Given the description of an element on the screen output the (x, y) to click on. 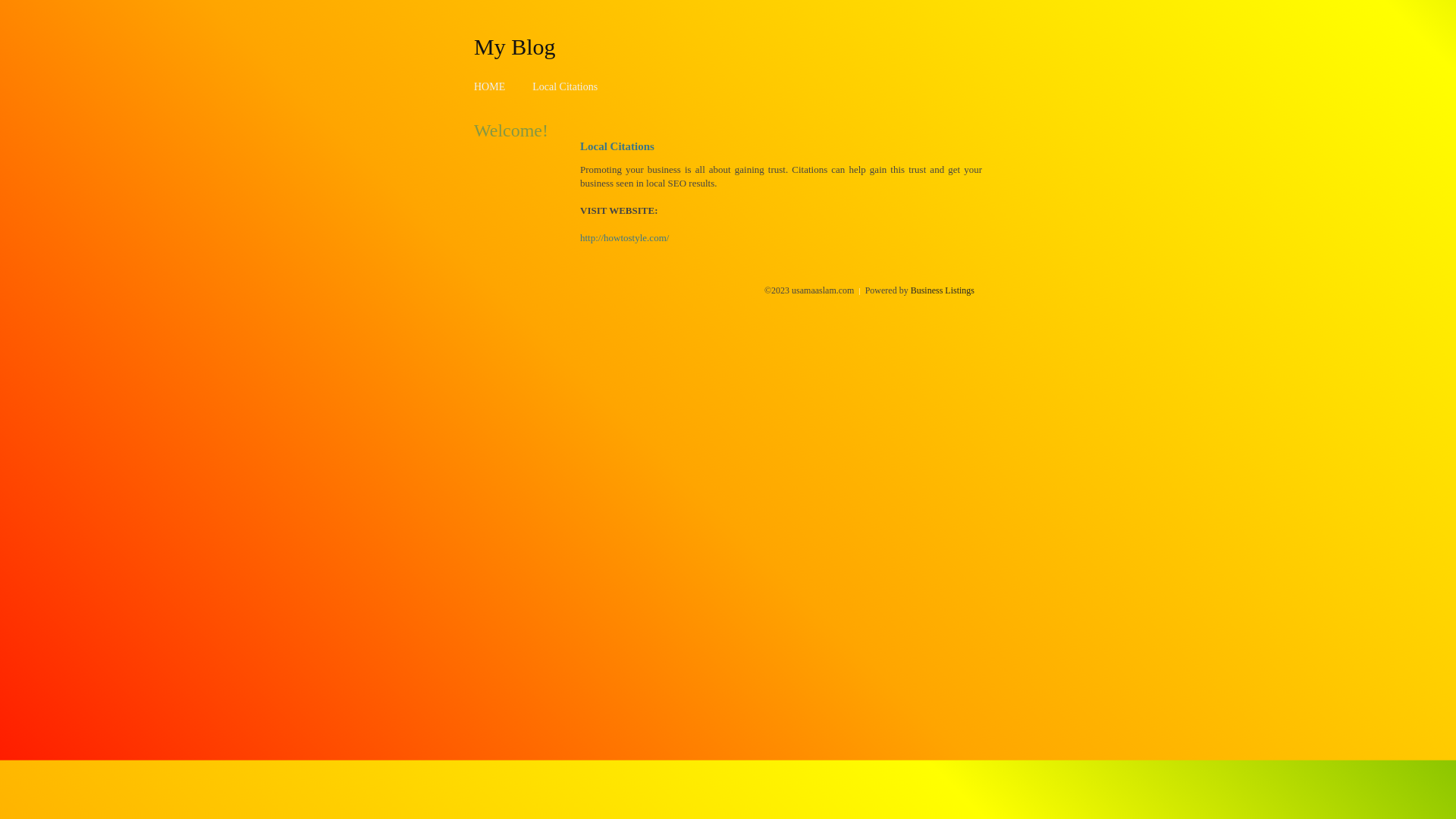
http://howtostyle.com/ Element type: text (624, 237)
Local Citations Element type: text (564, 86)
My Blog Element type: text (514, 46)
Business Listings Element type: text (942, 290)
HOME Element type: text (489, 86)
